Given the description of an element on the screen output the (x, y) to click on. 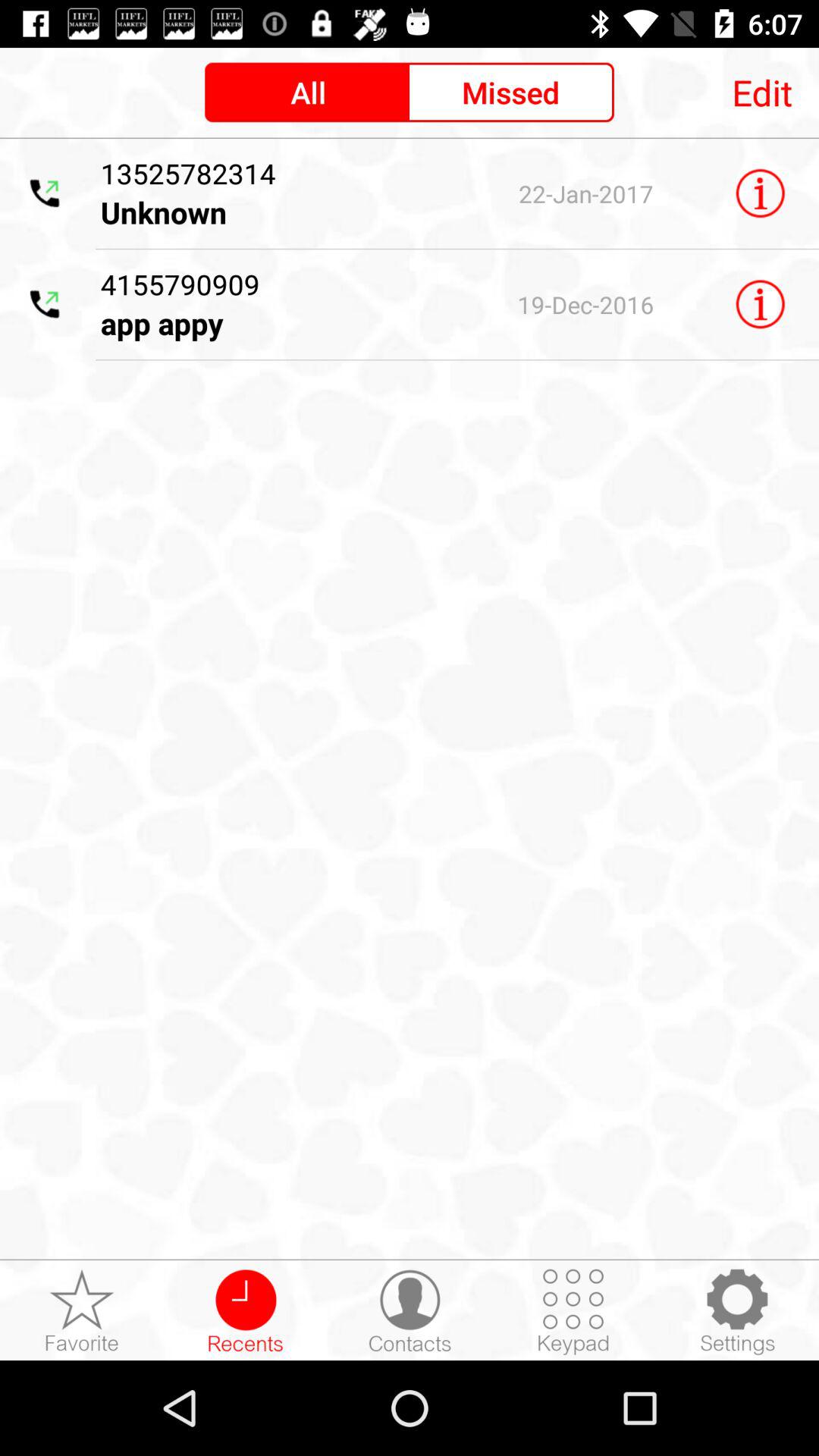
click on the icon keypad which is on the bottom right of the page (573, 1311)
click on recents button at the bottom (245, 1311)
go to information icon beside unknown text (760, 193)
select the first outgoing call symbol (45, 193)
second option right to second call icon (278, 303)
select on the setting icon right side of keypad (737, 1311)
